Given the description of an element on the screen output the (x, y) to click on. 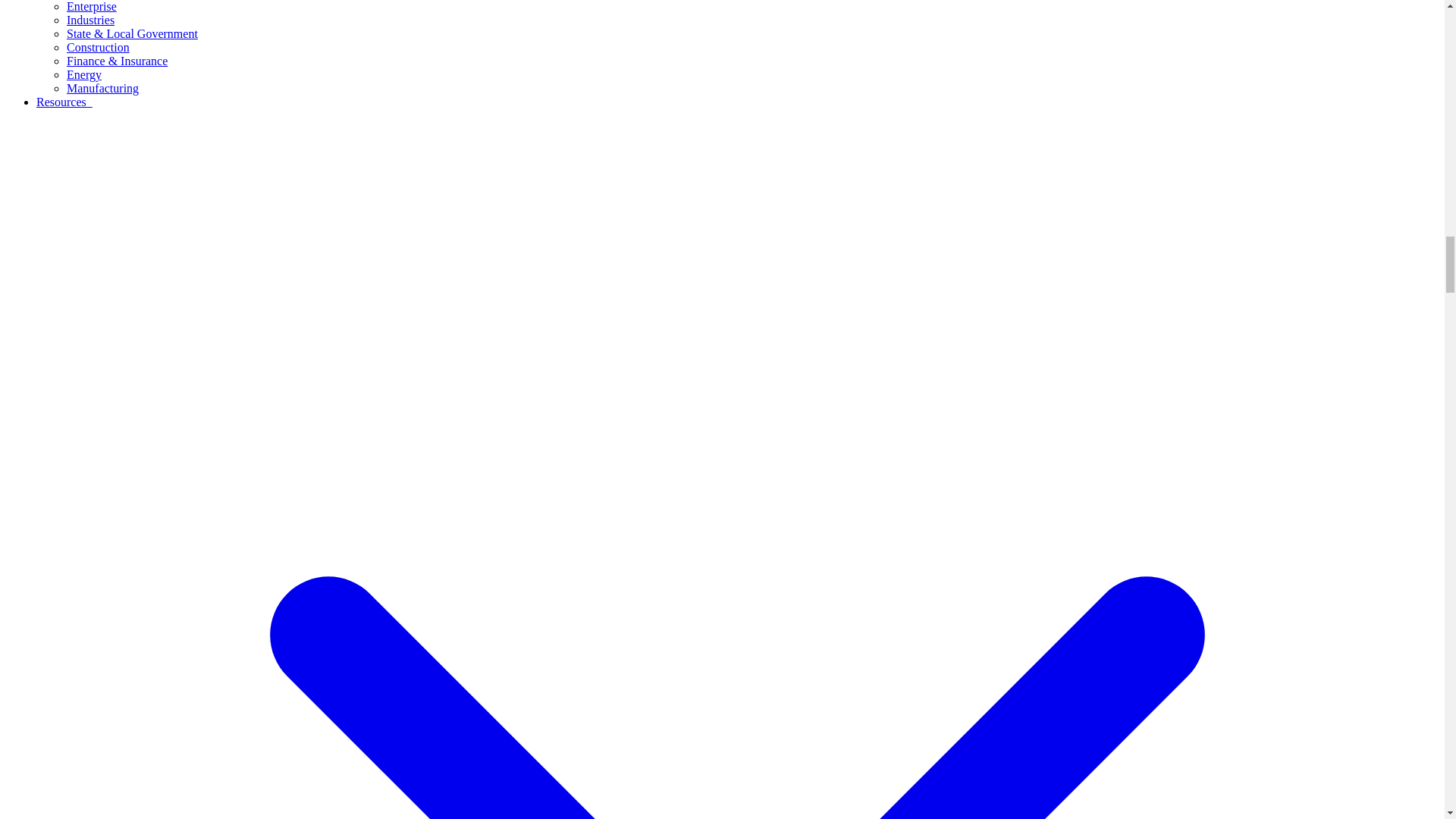
Enterprise (91, 6)
Energy (83, 74)
Construction (97, 47)
Industries (90, 19)
Manufacturing (102, 88)
